Given the description of an element on the screen output the (x, y) to click on. 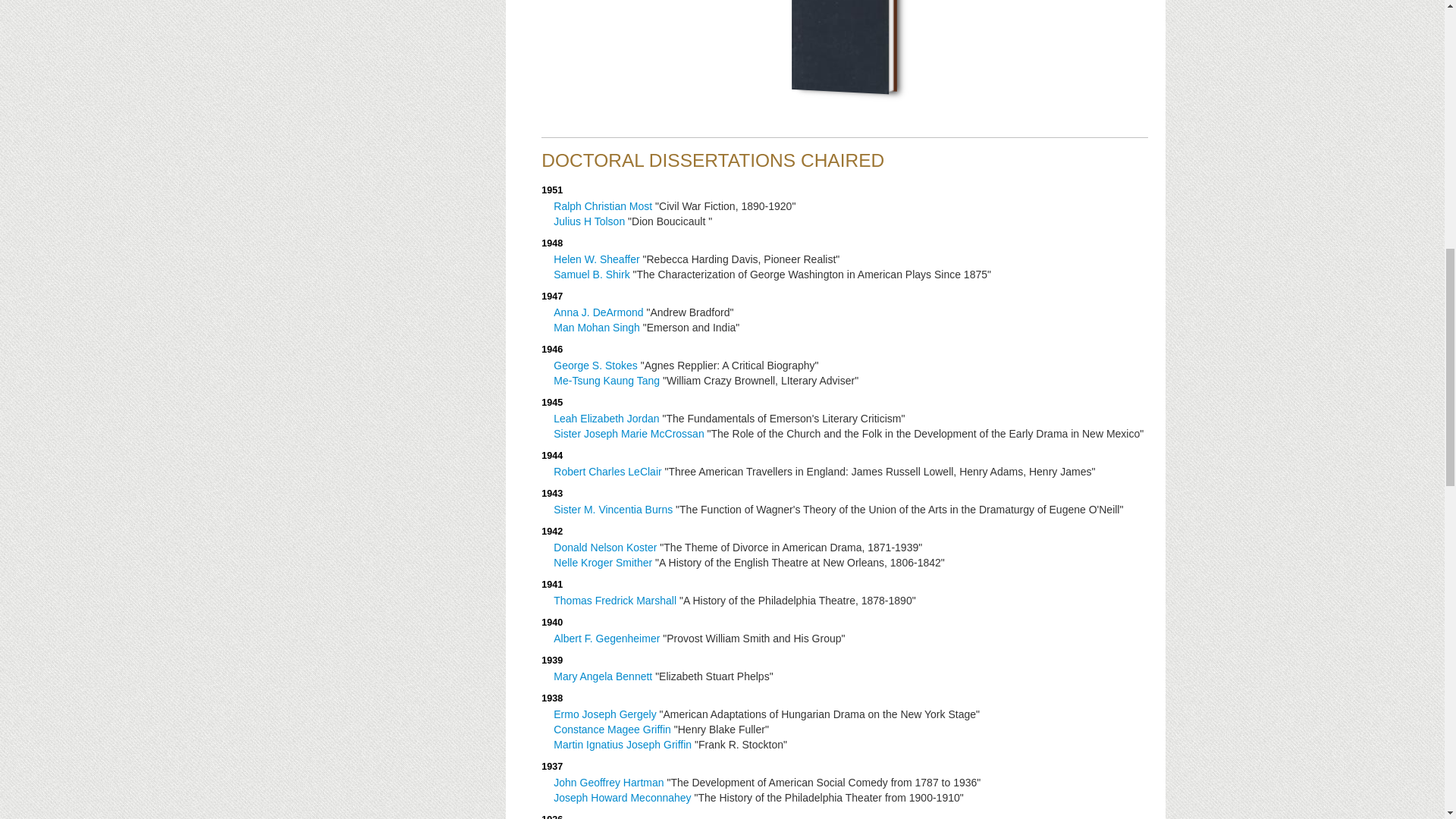
Ralph Christian Most (602, 205)
Julius H Tolson (588, 221)
Helen W. Sheaffer (596, 259)
